Given the description of an element on the screen output the (x, y) to click on. 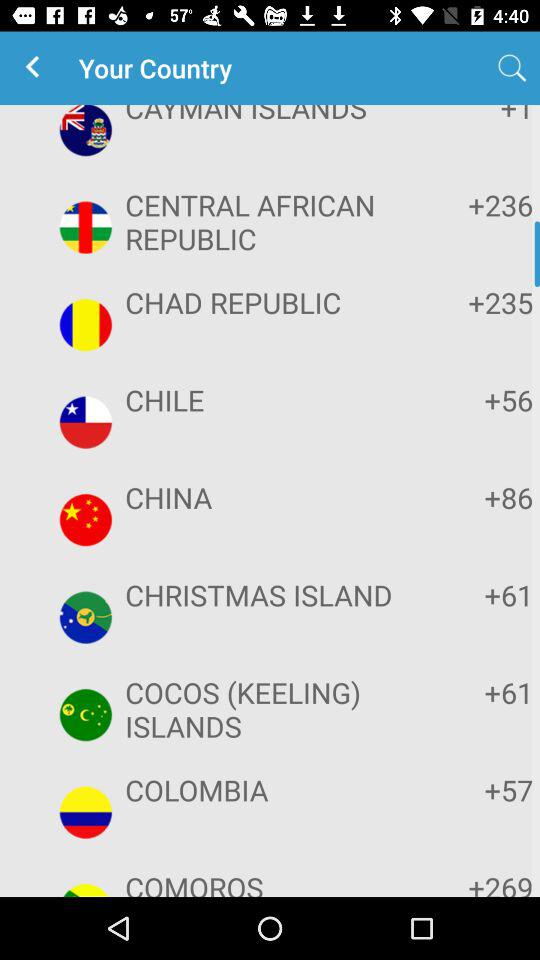
launch item above the chad republic app (471, 204)
